Given the description of an element on the screen output the (x, y) to click on. 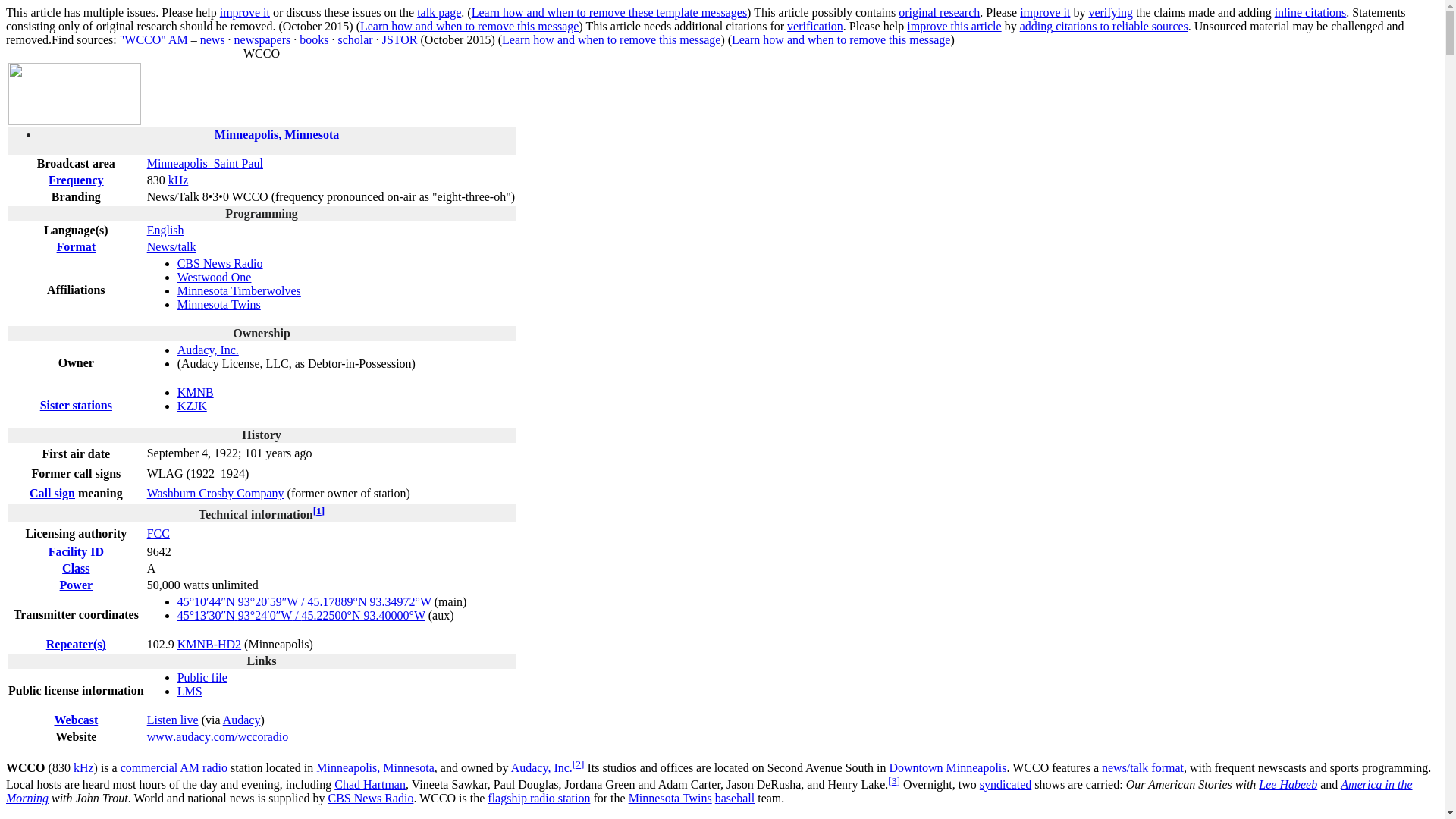
Learn how and when to remove this message (841, 39)
Hertz (178, 179)
Format (76, 246)
Minneapolis, Minnesota (276, 133)
Minnesota Timberwolves (239, 290)
inline citations (1310, 11)
Minneapolis, Minnesota (276, 133)
List of North American broadcast station classes (75, 567)
improve this article (954, 25)
Minnesota Twins (218, 304)
